Given the description of an element on the screen output the (x, y) to click on. 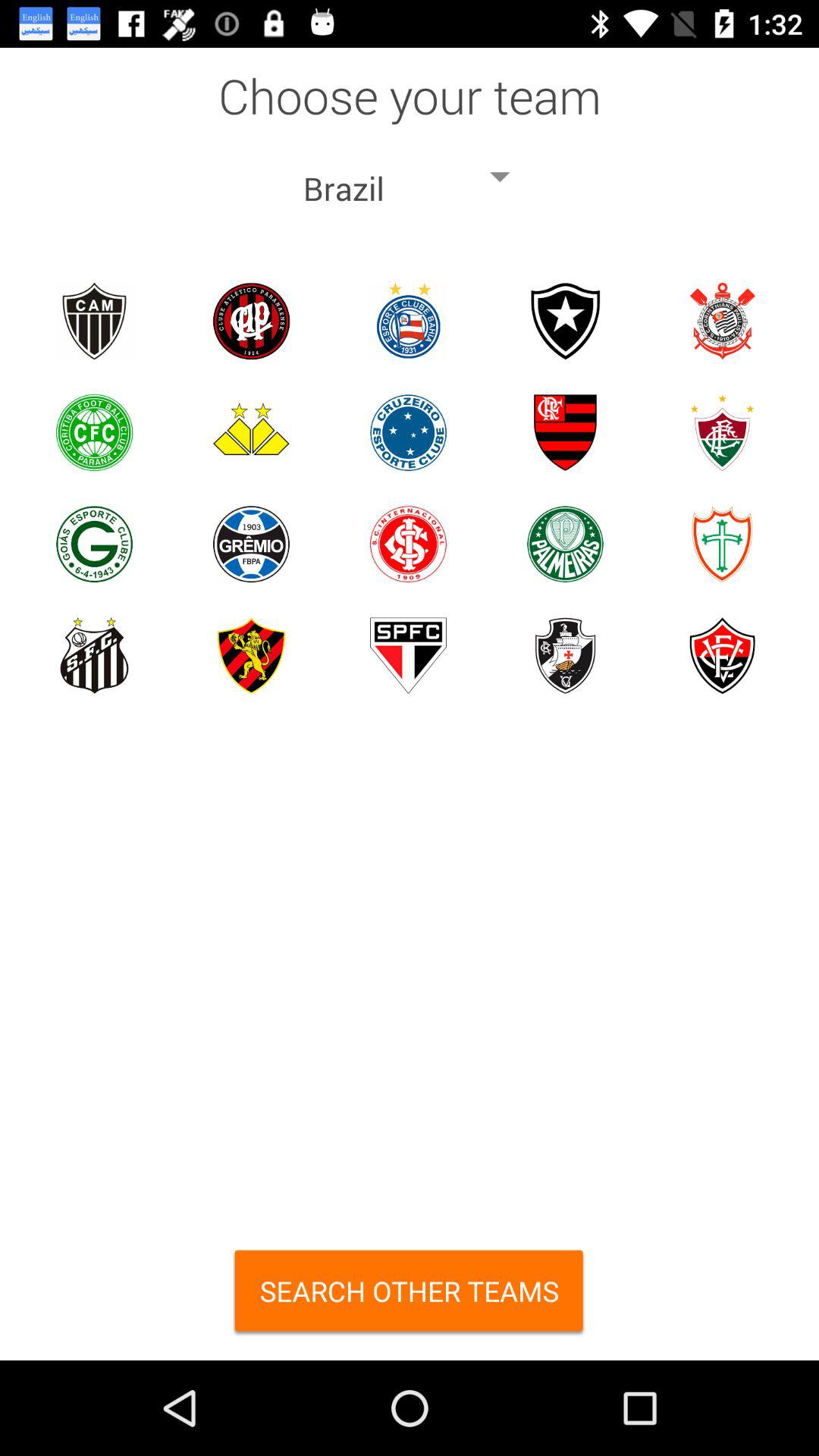
choose team fluminence fc (722, 432)
